Given the description of an element on the screen output the (x, y) to click on. 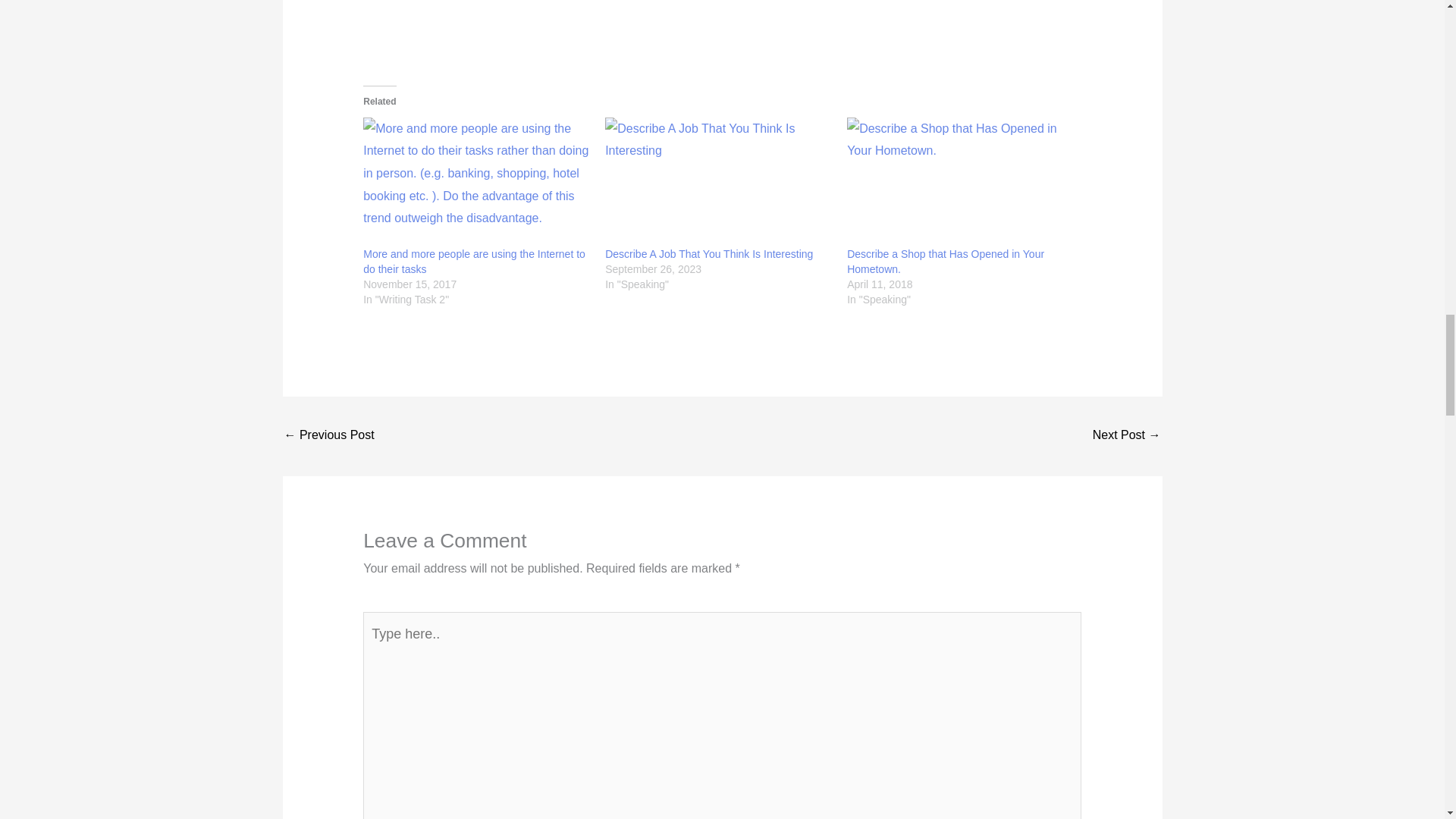
Describe a Shop that Has Opened in Your Hometown. (945, 261)
Describe A Job That You Think Is Interesting (708, 254)
Describe A Job That You Think Is Interesting (718, 182)
Describe A Job That You Think Is Interesting (708, 254)
Describe a Shop that Has Opened in Your Hometown. (960, 182)
Describe a special date  in my country's History. (328, 436)
